Given the description of an element on the screen output the (x, y) to click on. 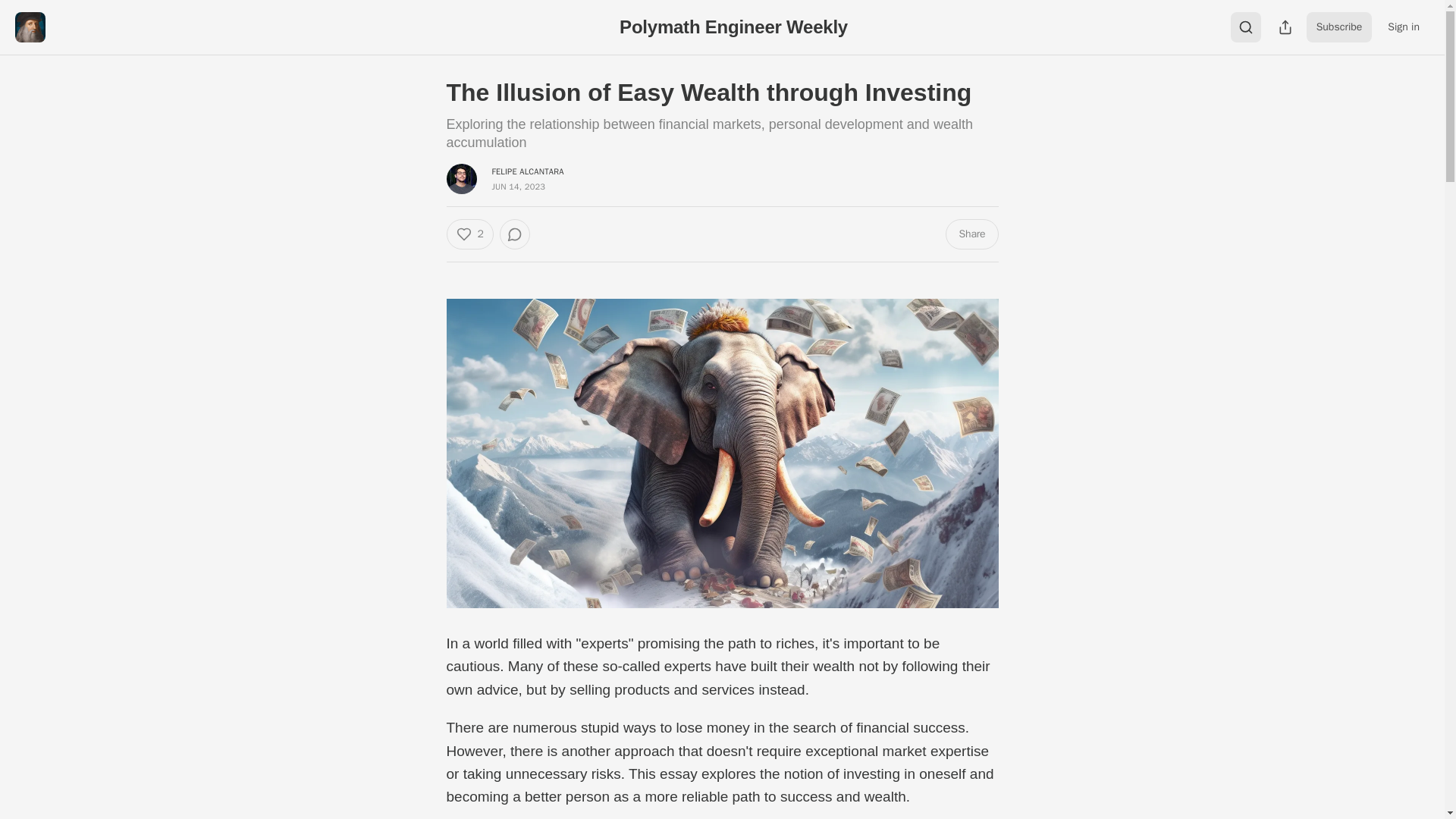
FELIPE ALCANTARA (527, 171)
Sign in (1403, 27)
Share (970, 234)
Subscribe (1339, 27)
2 (469, 234)
Polymath Engineer Weekly (733, 26)
